Given the description of an element on the screen output the (x, y) to click on. 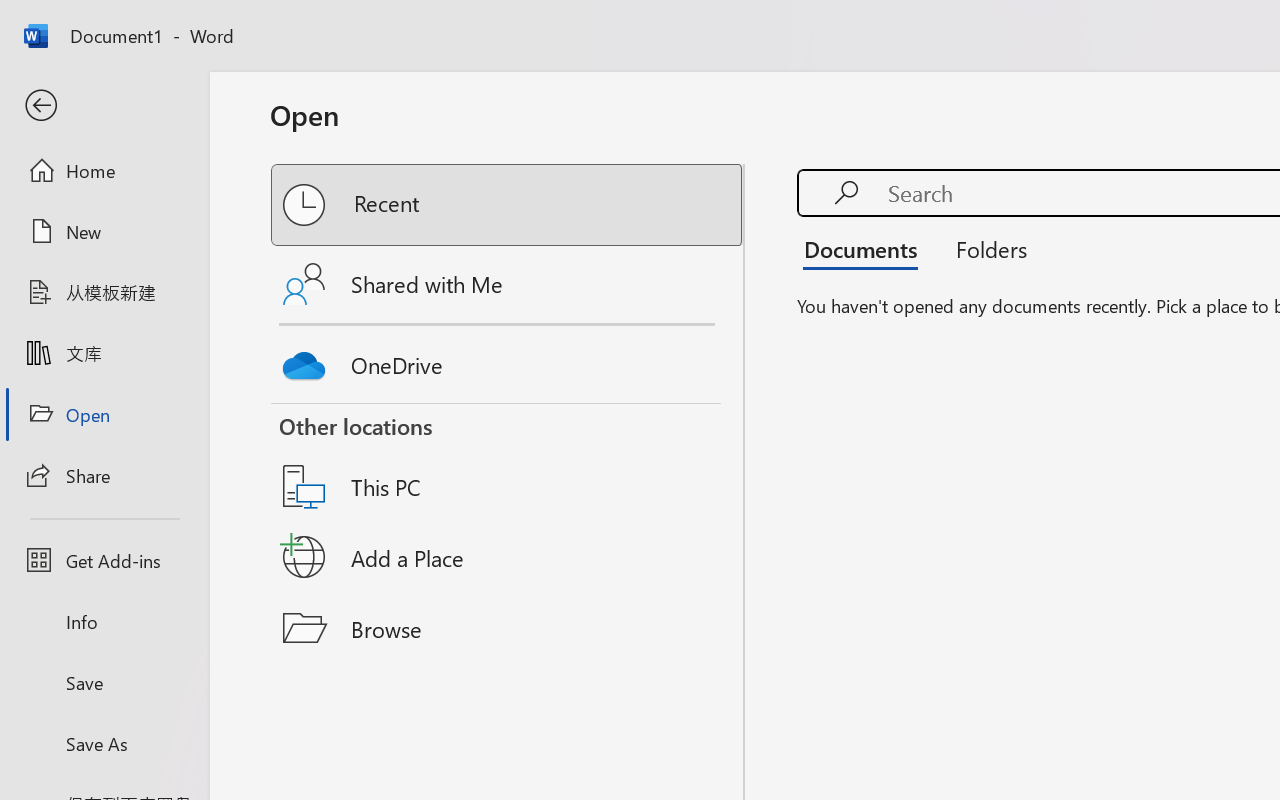
Save As (104, 743)
Info (104, 621)
Browse (507, 627)
Get Add-ins (104, 560)
Recent (507, 205)
Shared with Me (507, 283)
Documents (866, 248)
This PC (507, 461)
Folders (984, 248)
